Given the description of an element on the screen output the (x, y) to click on. 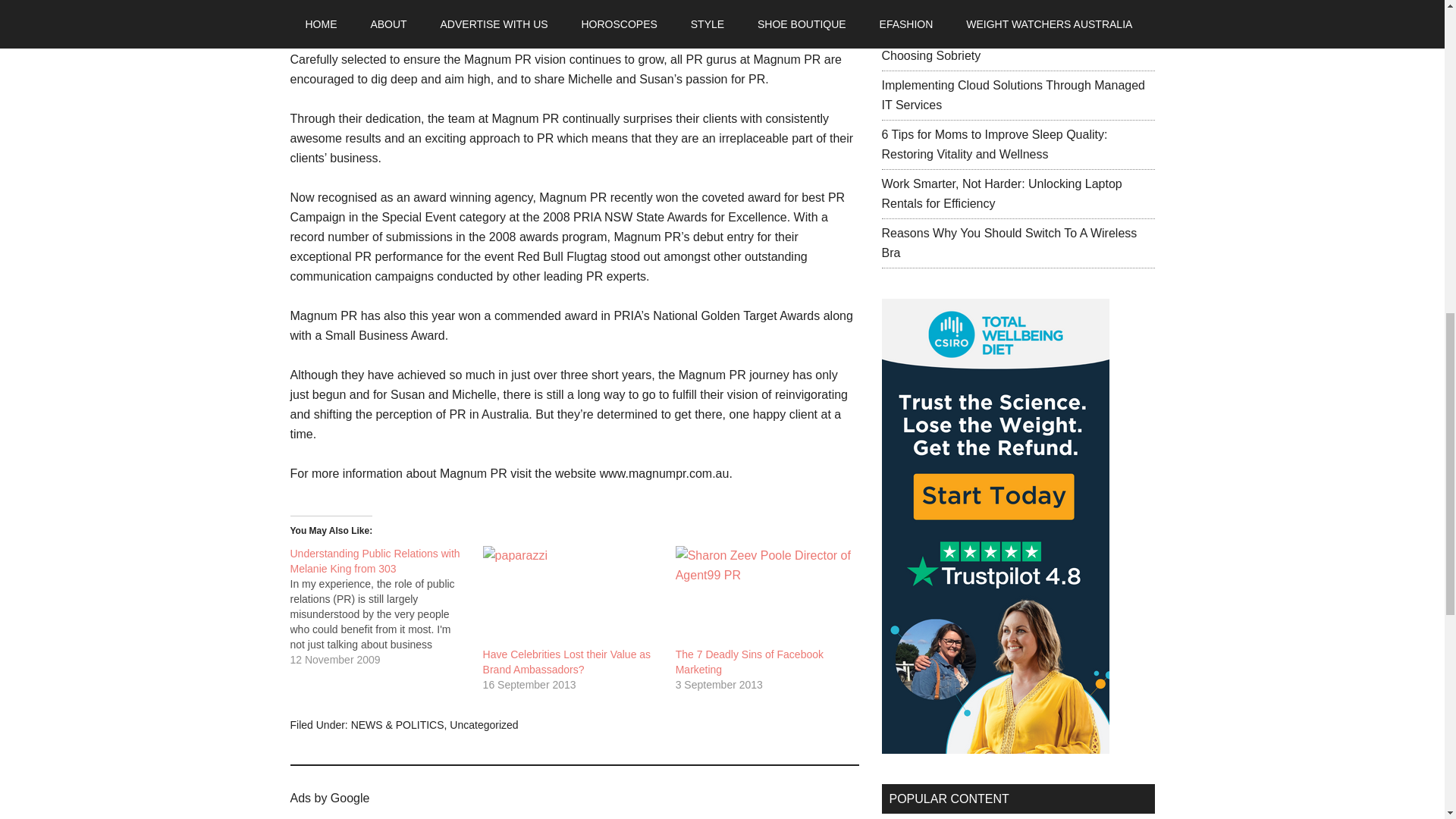
The 7 Deadly Sins of Facebook Marketing (764, 596)
Understanding Public Relations with Melanie King from 303 (374, 560)
Have Celebrities Lost their Value as Brand Ambassadors? (566, 661)
Understanding Public Relations with Melanie King from 303 (385, 606)
The 7 Deadly Sins of Facebook Marketing (749, 661)
Have Celebrities Lost their Value as Brand Ambassadors? (572, 596)
